Given the description of an element on the screen output the (x, y) to click on. 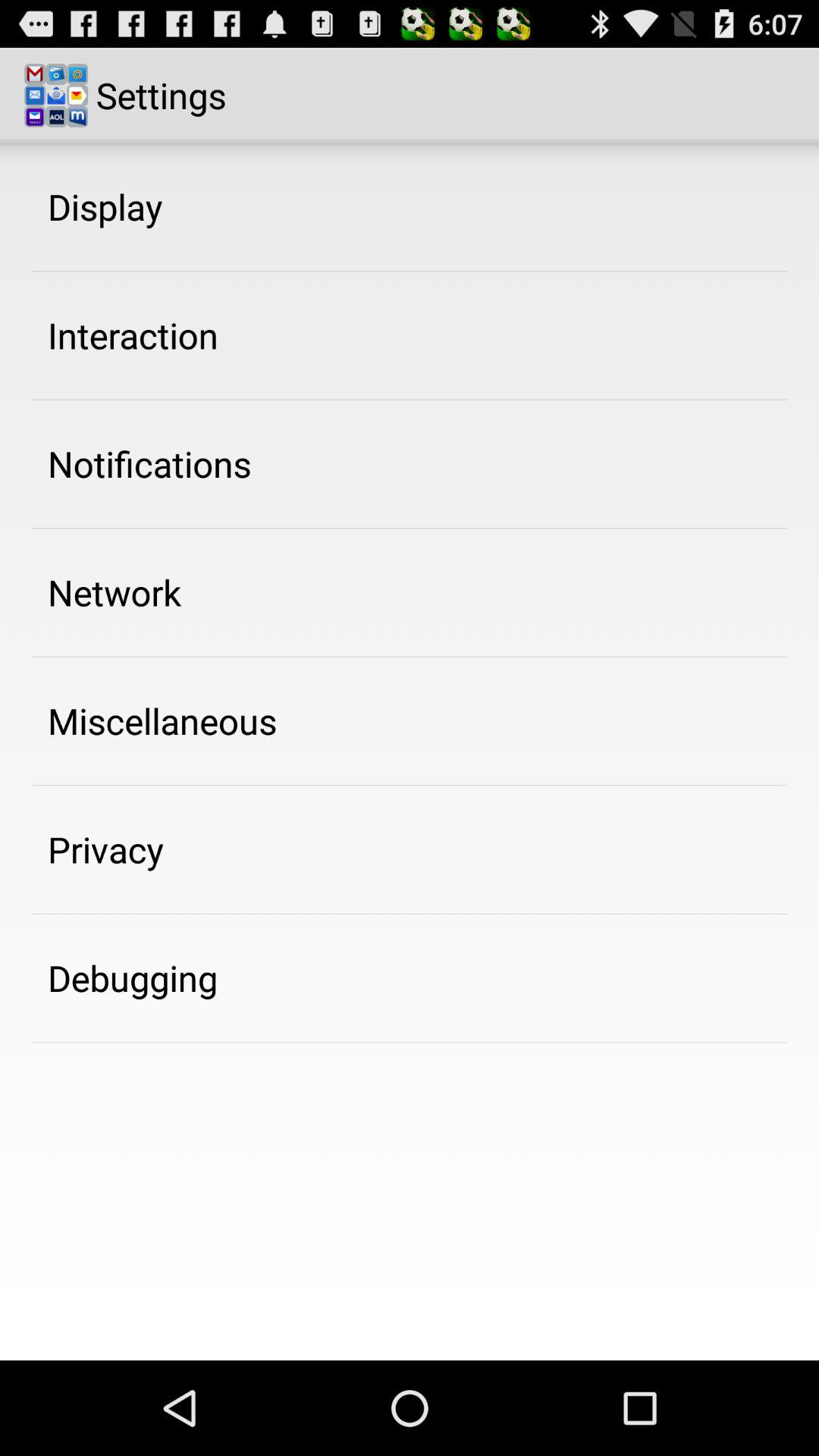
choose item below the display app (132, 335)
